Given the description of an element on the screen output the (x, y) to click on. 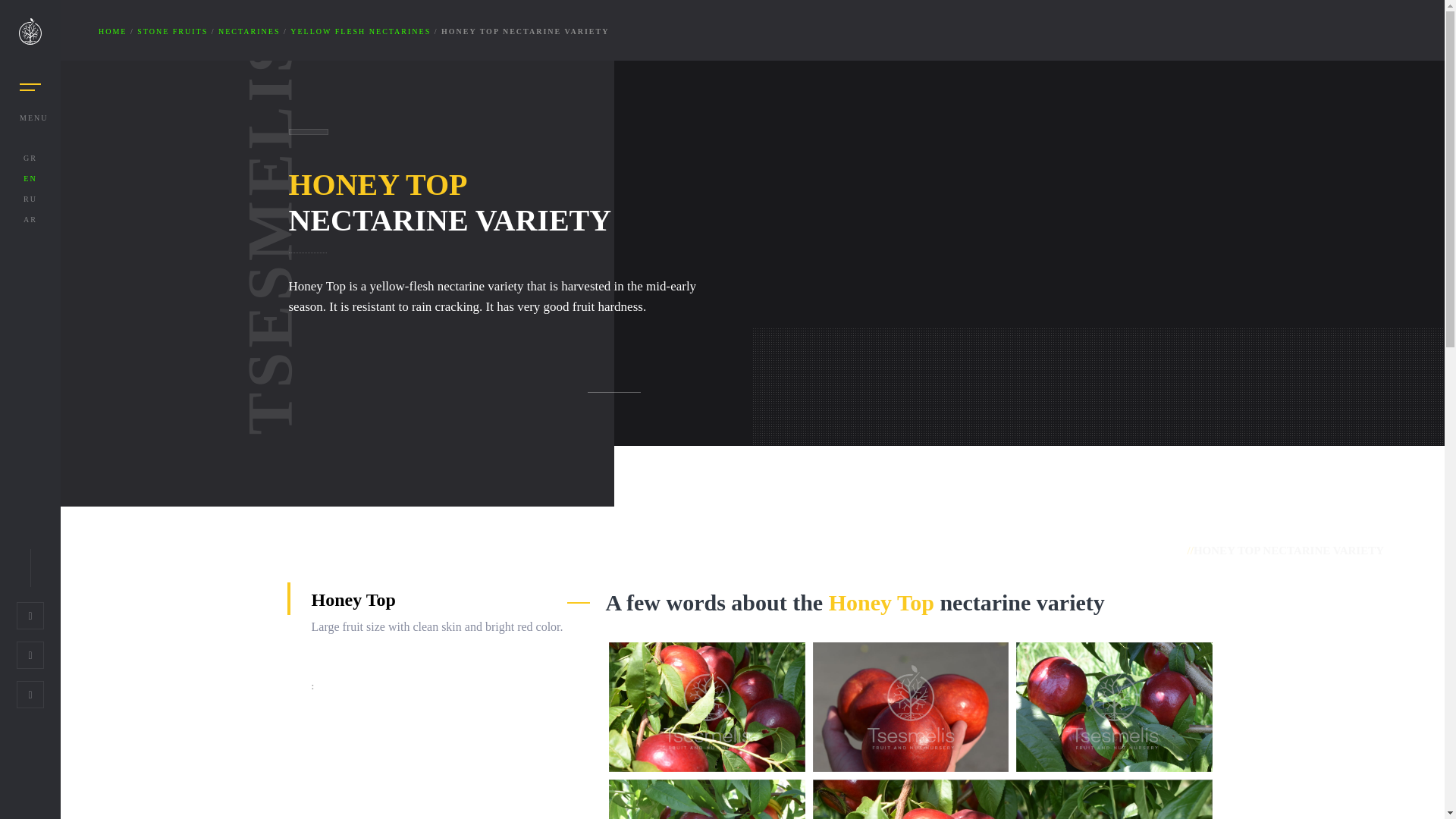
RU (30, 198)
AR (30, 219)
GR (30, 157)
EN (29, 178)
